Given the description of an element on the screen output the (x, y) to click on. 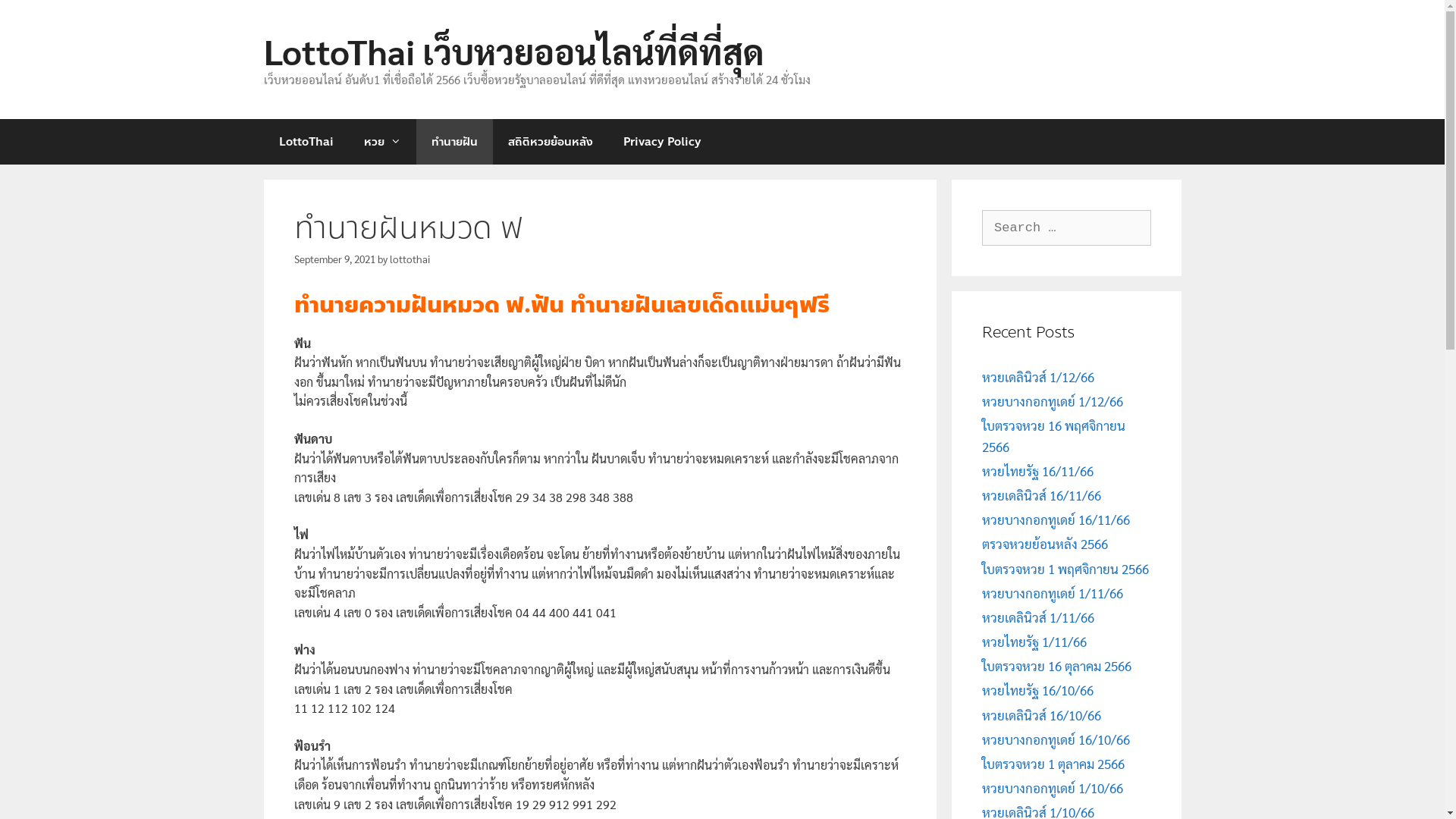
LottoThai Element type: text (305, 140)
Privacy Policy Element type: text (662, 140)
Search for: Element type: hover (1066, 227)
lottothai Element type: text (409, 258)
Search Element type: text (39, 18)
